Given the description of an element on the screen output the (x, y) to click on. 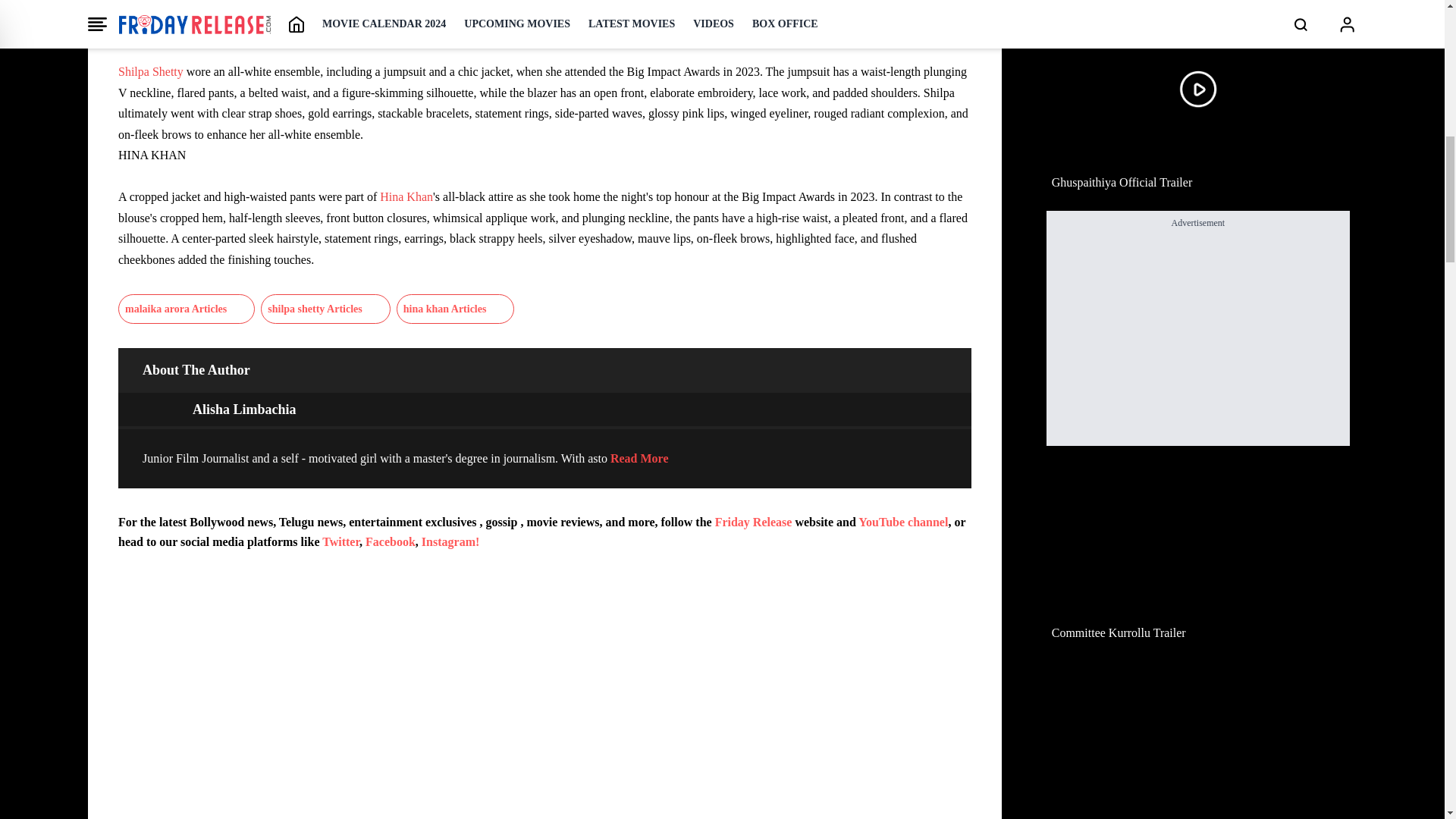
Twitter Page (340, 541)
Instagram Page (450, 541)
Facebook Page (389, 541)
